Given the description of an element on the screen output the (x, y) to click on. 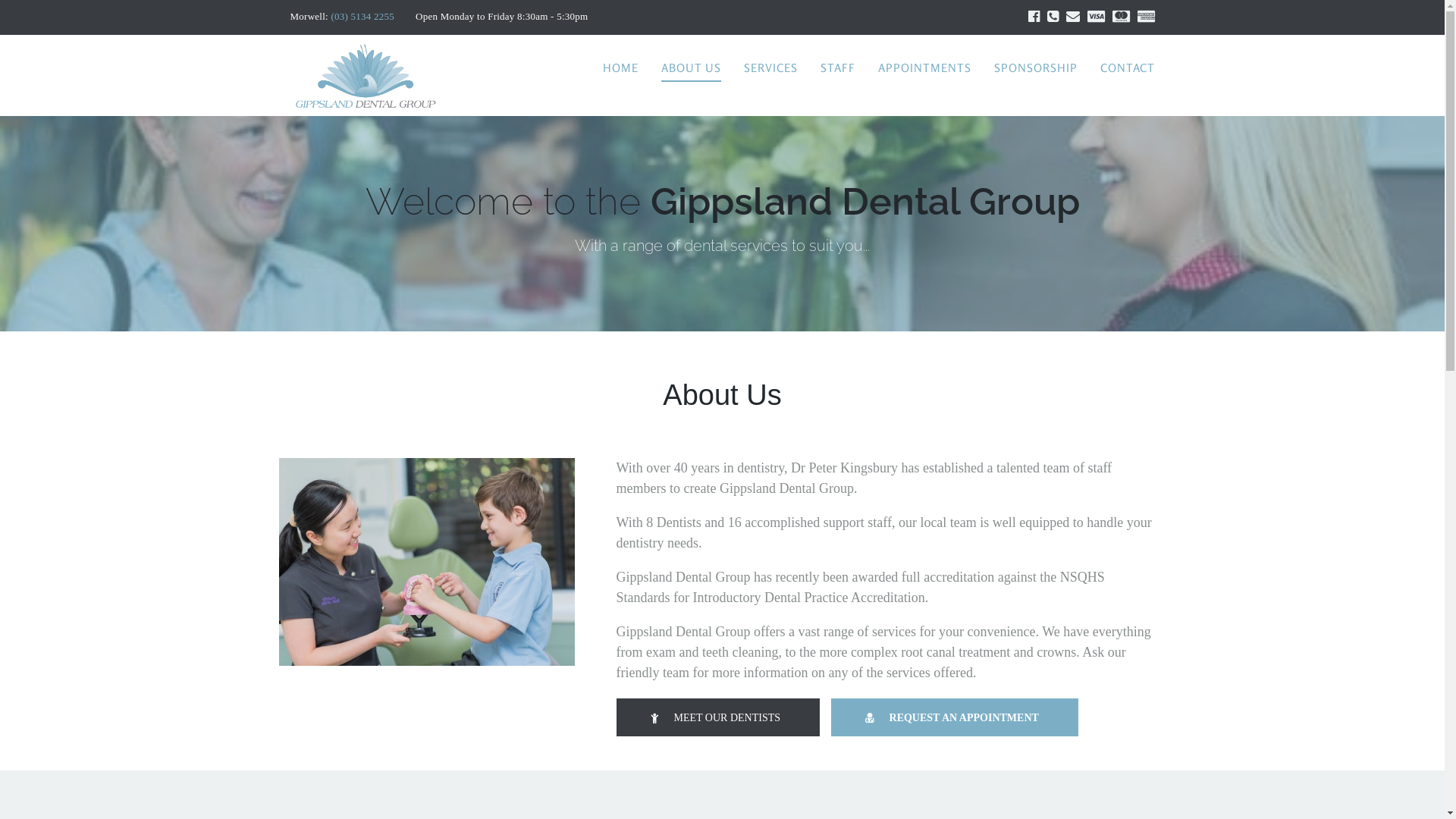
ABOUT US Element type: text (691, 67)
STAFF Element type: text (837, 67)
SPONSORSHIP Element type: text (1034, 67)
SERVICES Element type: text (770, 67)
(03) 5134 2255 Element type: text (362, 15)
APPOINTMENTS Element type: text (924, 67)
HOME Element type: text (619, 67)
  REQUEST AN APPOINTMENT   Element type: text (954, 717)
  MEET OUR DENTISTS   Element type: text (717, 717)
CONTACT Element type: text (1126, 67)
